Given the description of an element on the screen output the (x, y) to click on. 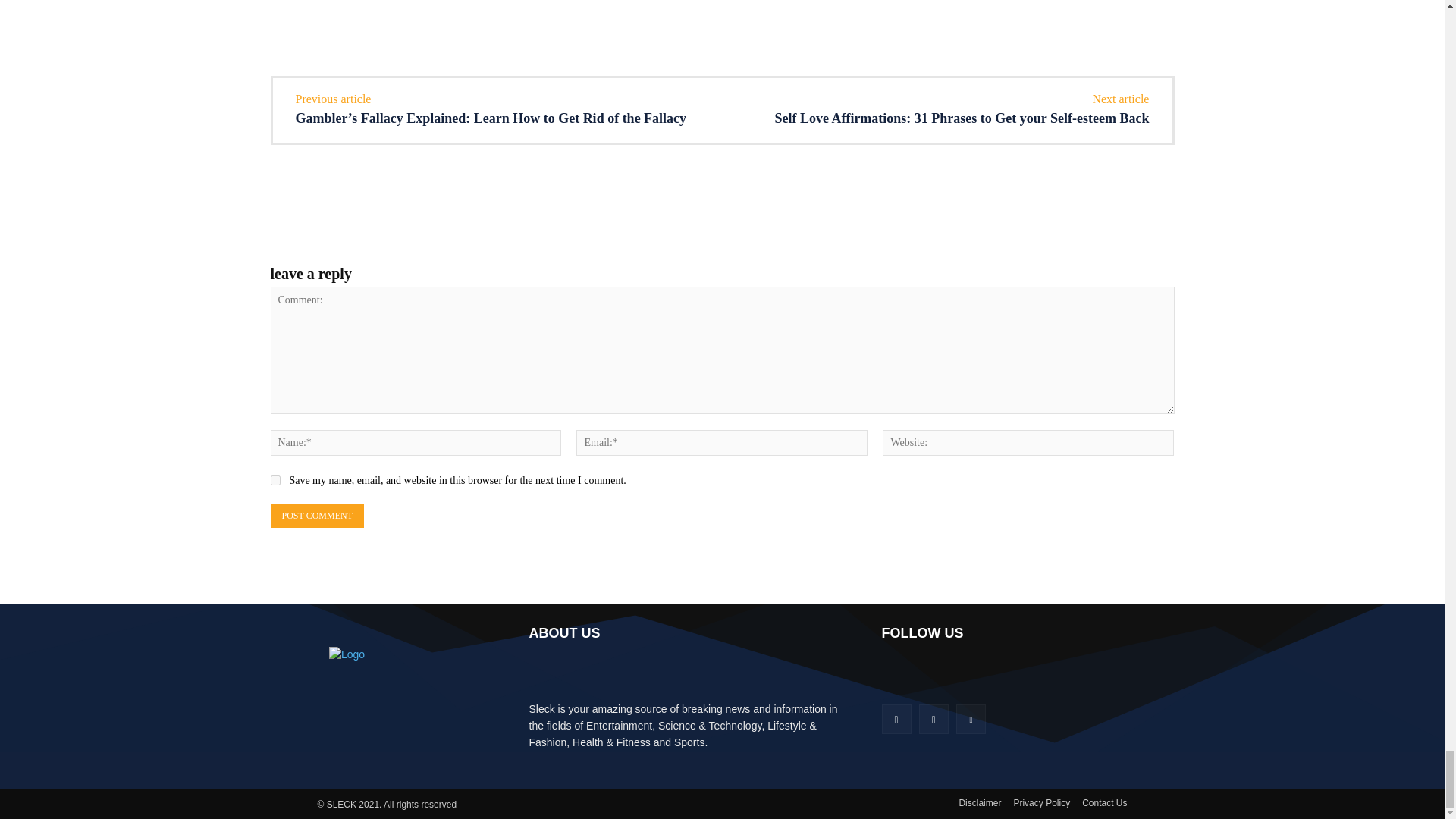
yes (274, 480)
Post Comment (315, 515)
